Given the description of an element on the screen output the (x, y) to click on. 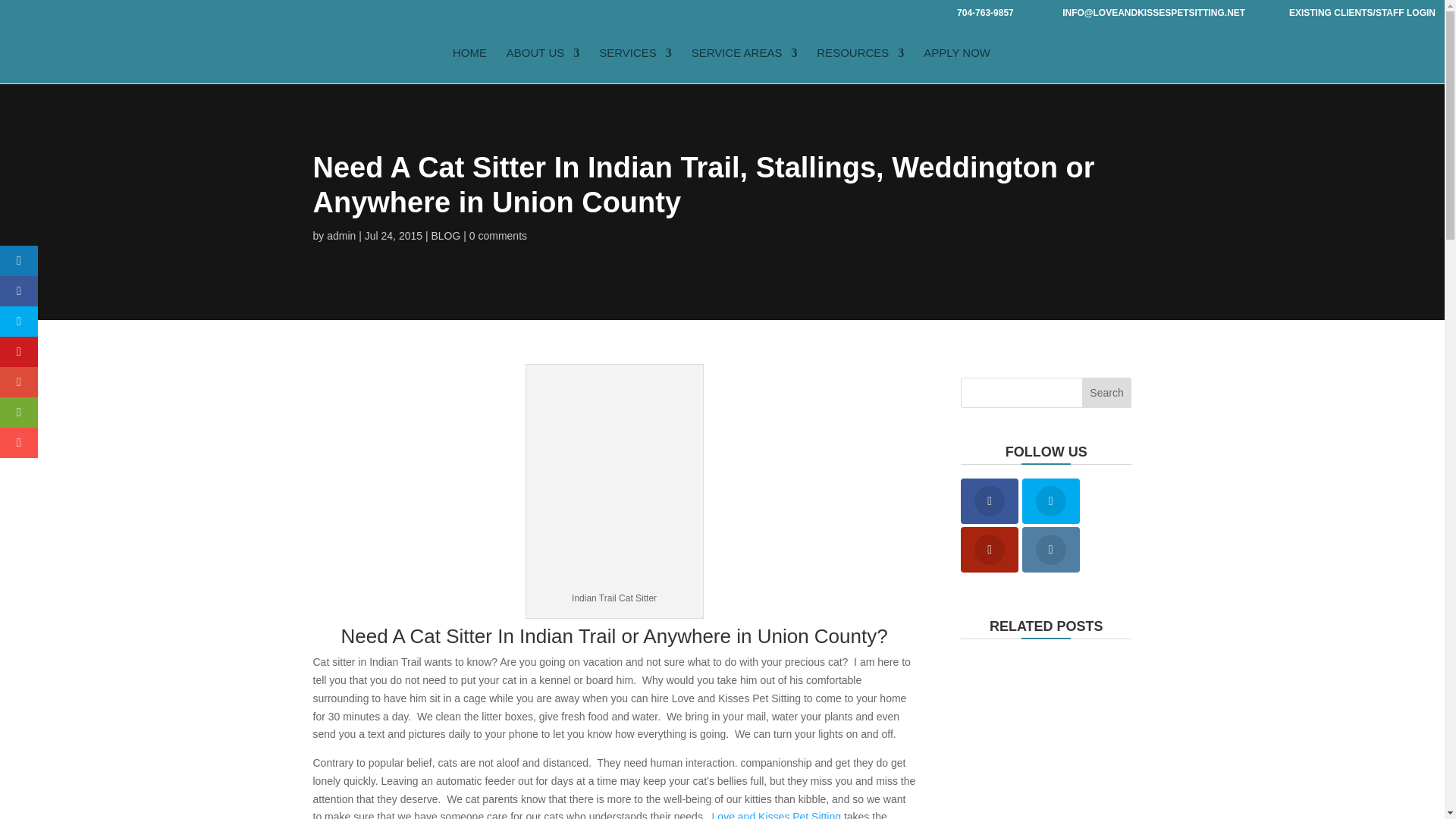
HOME (469, 65)
Search (1106, 392)
RESOURCES (860, 65)
SERVICE AREAS (744, 65)
ABOUT US (542, 65)
Posts by admin (340, 235)
SERVICES (634, 65)
 704-763-9857  (980, 12)
